Given the description of an element on the screen output the (x, y) to click on. 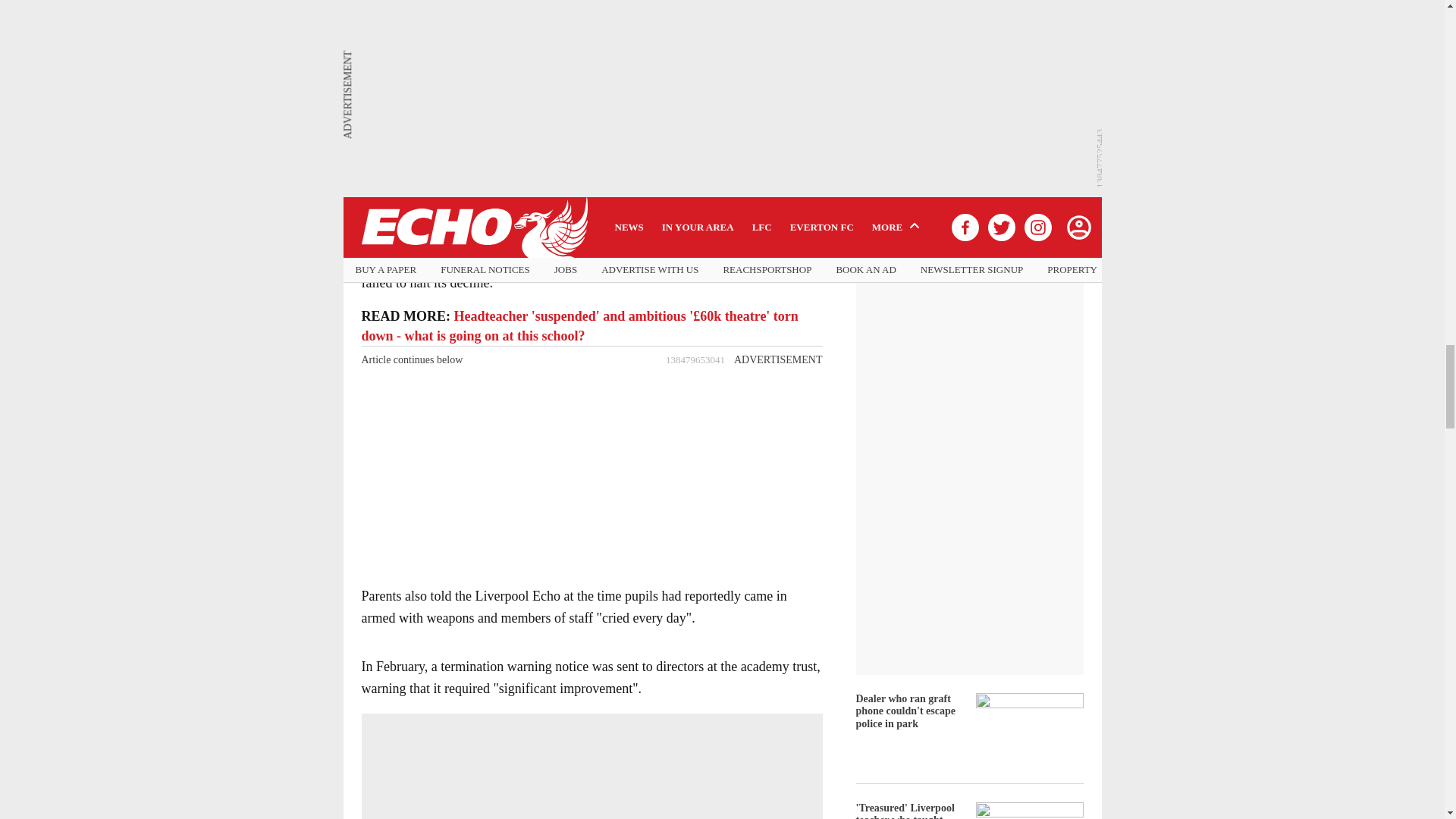
3rd party ad content (590, 467)
3rd party ad content (590, 45)
